Given the description of an element on the screen output the (x, y) to click on. 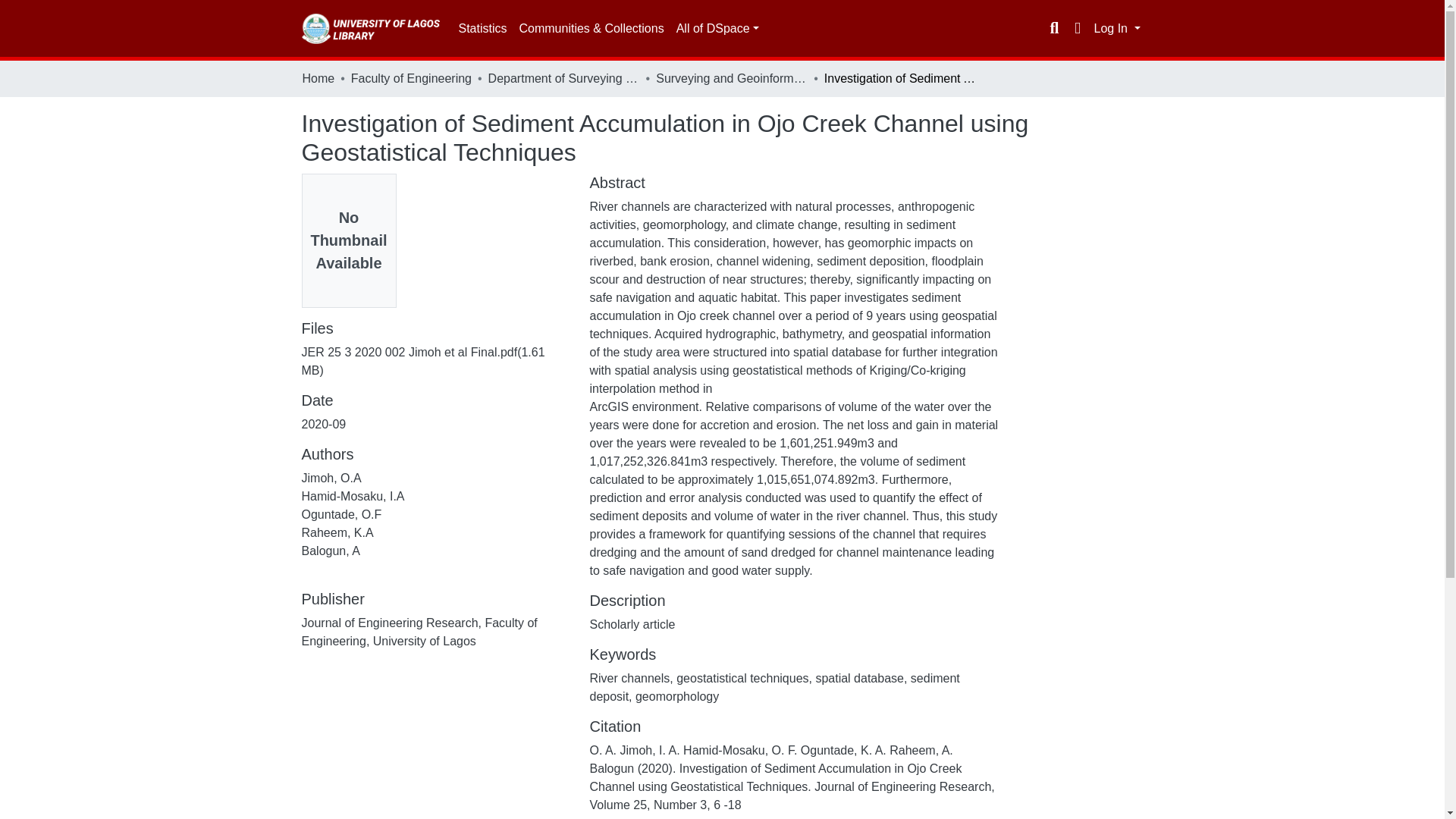
Home (317, 78)
Log In (1116, 28)
Surveying and Geoinformatics - Scholarly Publications (732, 78)
Statistics (481, 28)
All of DSpace (717, 28)
Search (1053, 28)
Statistics (481, 28)
Faculty of Engineering (410, 78)
Language switch (1077, 28)
Department of Surveying and Geoinformatics (563, 78)
